Given the description of an element on the screen output the (x, y) to click on. 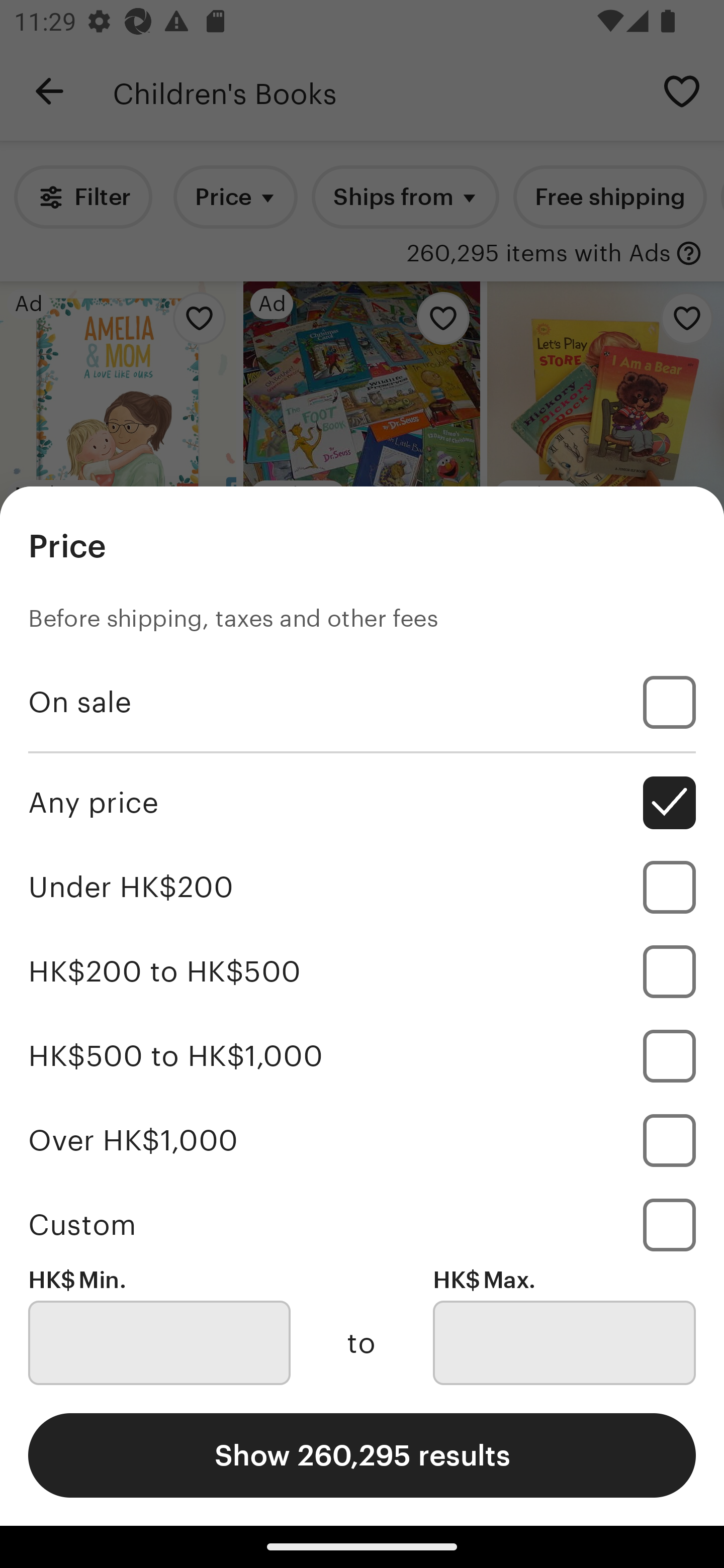
On sale (362, 702)
Any price (362, 802)
Under HK$200 (362, 887)
HK$200 to HK$500 (362, 970)
HK$500 to HK$1,000 (362, 1054)
Over HK$1,000 (362, 1139)
Custom (362, 1224)
Show 260,295 results (361, 1454)
